Given the description of an element on the screen output the (x, y) to click on. 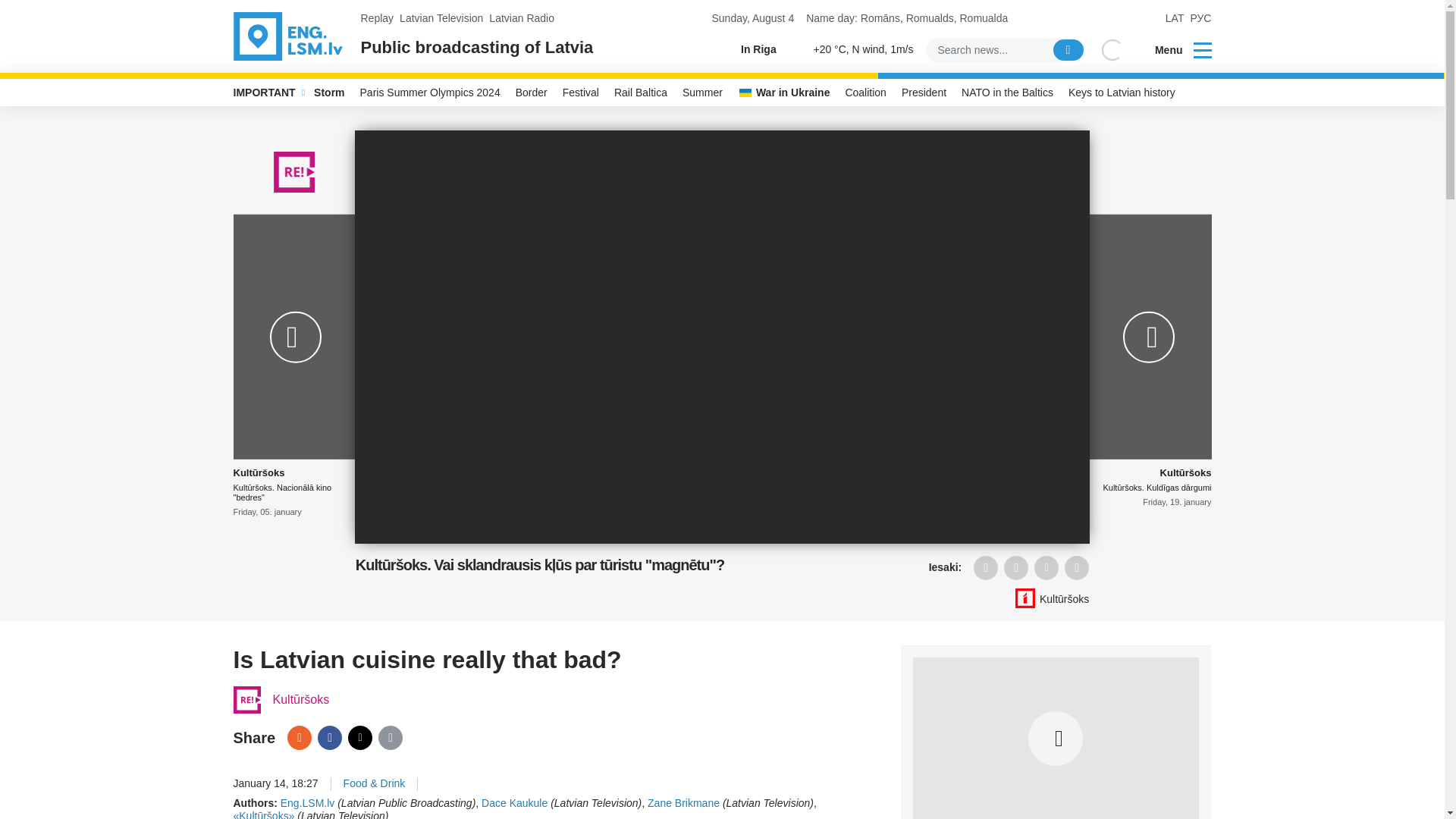
X (359, 737)
X (1045, 567)
NATO in the Baltics (1007, 92)
Menu (1173, 50)
Keys to Latvian history (1121, 92)
Rail Baltica (641, 92)
Facebook (329, 737)
Storm (328, 92)
Paris Summer Olympics 2024 (430, 92)
LAT (1175, 18)
Draugiem (985, 567)
President (923, 92)
Draugiem (298, 737)
Replay (377, 18)
Border (531, 92)
